Given the description of an element on the screen output the (x, y) to click on. 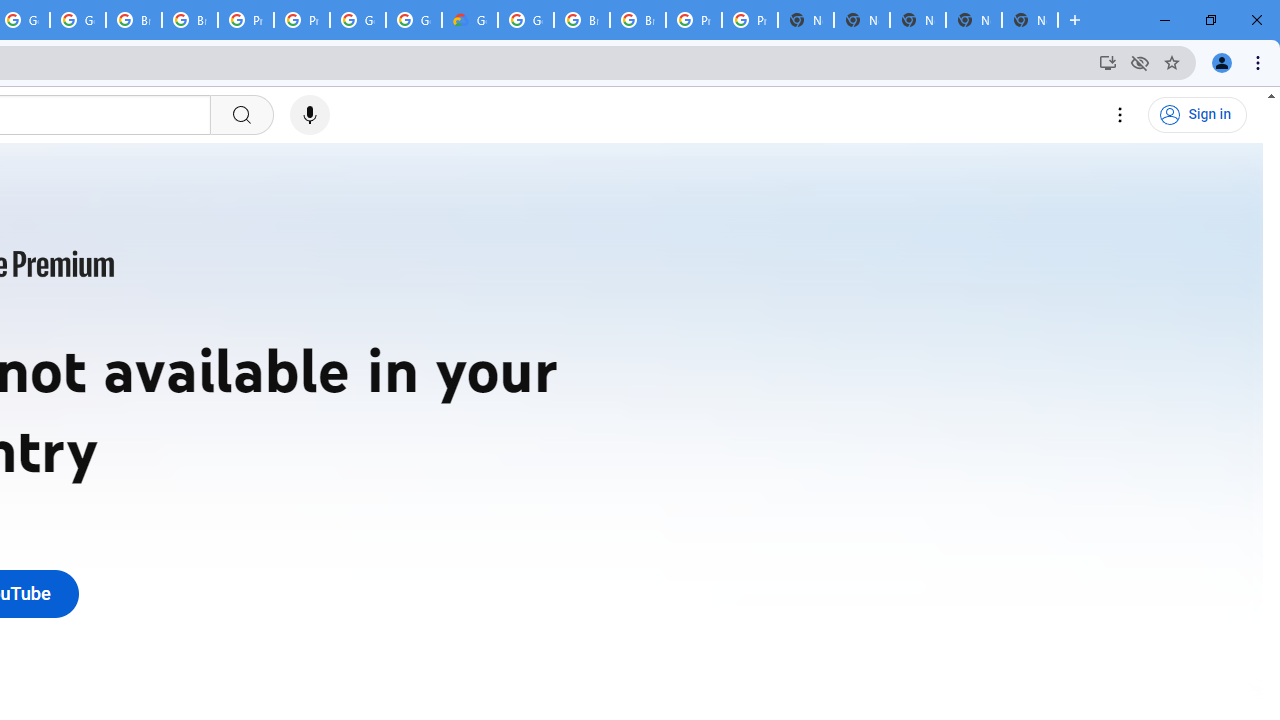
Google Cloud Platform (358, 20)
Search with your voice (309, 115)
Google Cloud Estimate Summary (469, 20)
Google Cloud Platform (525, 20)
New Tab (1030, 20)
